Given the description of an element on the screen output the (x, y) to click on. 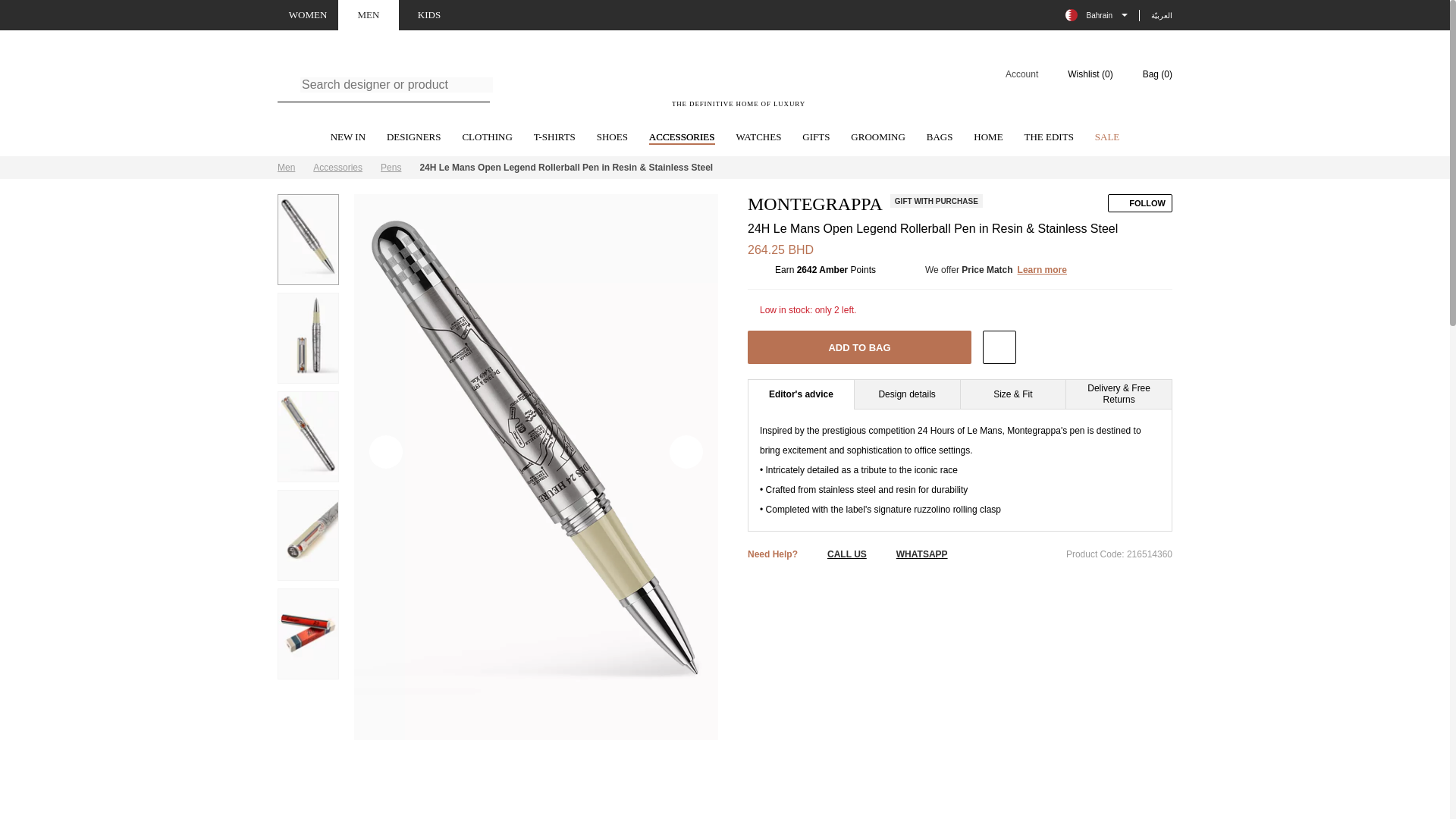
Account (1012, 73)
WATCHES (757, 137)
T-SHIRTS (554, 137)
DESIGNERS (414, 137)
THE DEFINITIVE HOME OF LUXURY (738, 83)
NEW IN (347, 137)
MEN (367, 15)
Bahrain (1096, 15)
KIDS (429, 15)
WOMEN (307, 15)
